Given the description of an element on the screen output the (x, y) to click on. 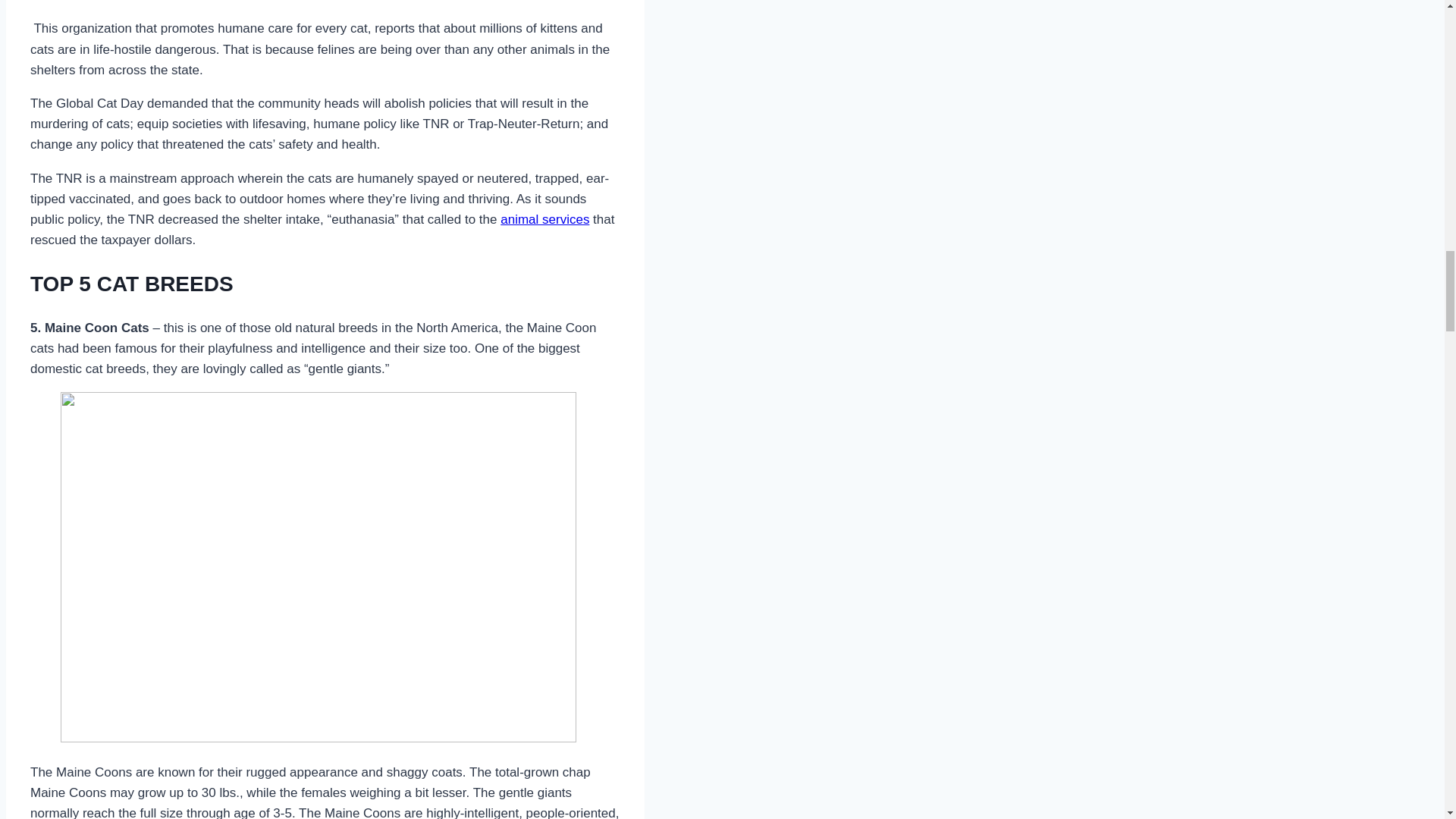
animal services (544, 219)
